Given the description of an element on the screen output the (x, y) to click on. 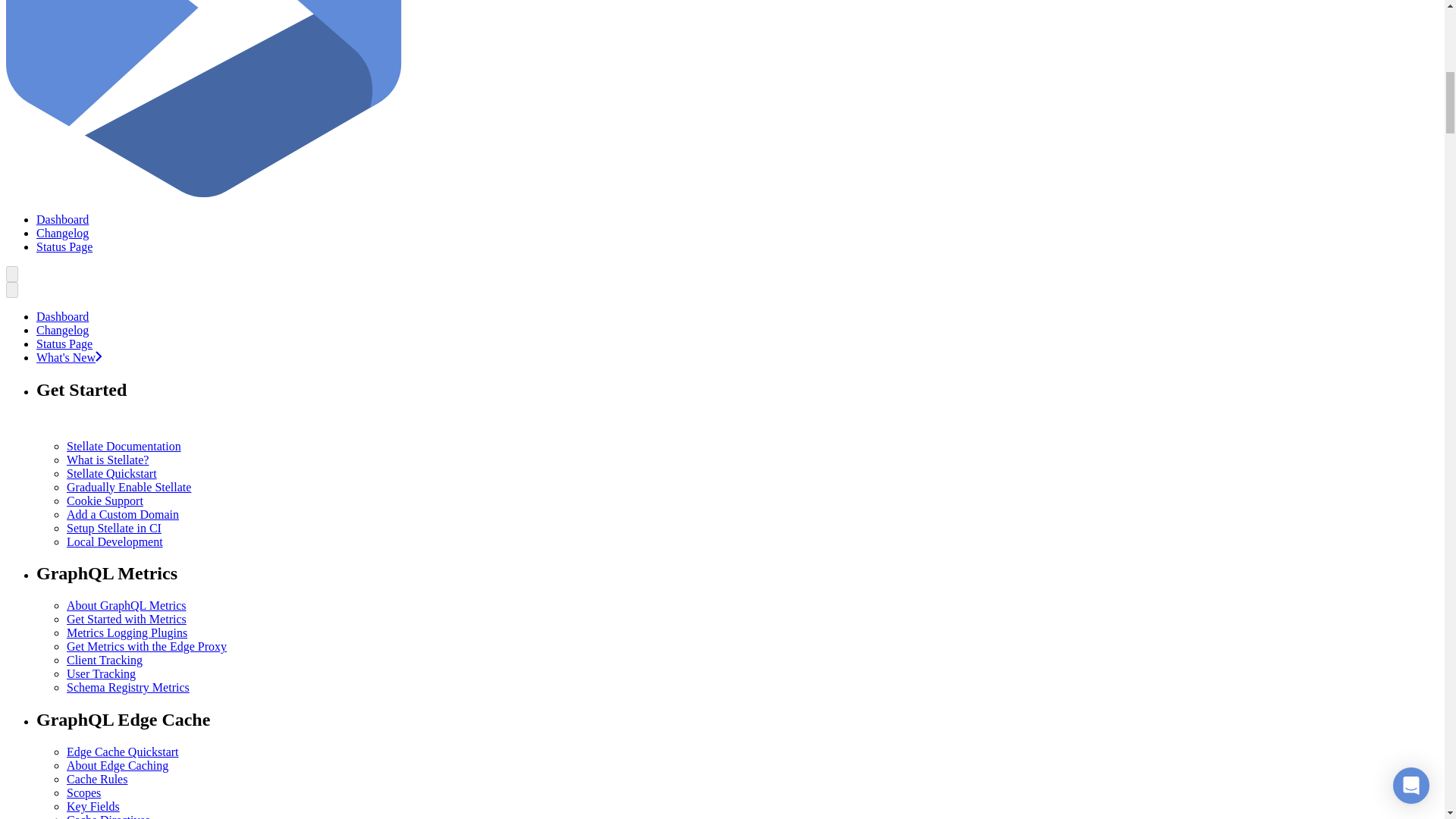
Changelog (62, 329)
Edge Cache Quickstart (122, 751)
Gradually Enable Stellate (128, 486)
About Edge Caching (117, 765)
Key Fields (92, 806)
About GraphQL Metrics (126, 604)
Add a Custom Domain (122, 513)
Dashboard (62, 219)
Status Page (64, 343)
Schema Registry Metrics (127, 686)
User Tracking (100, 673)
Cookie Support (104, 500)
Cache Rules (97, 779)
Changelog (62, 232)
What's New (68, 357)
